Given the description of an element on the screen output the (x, y) to click on. 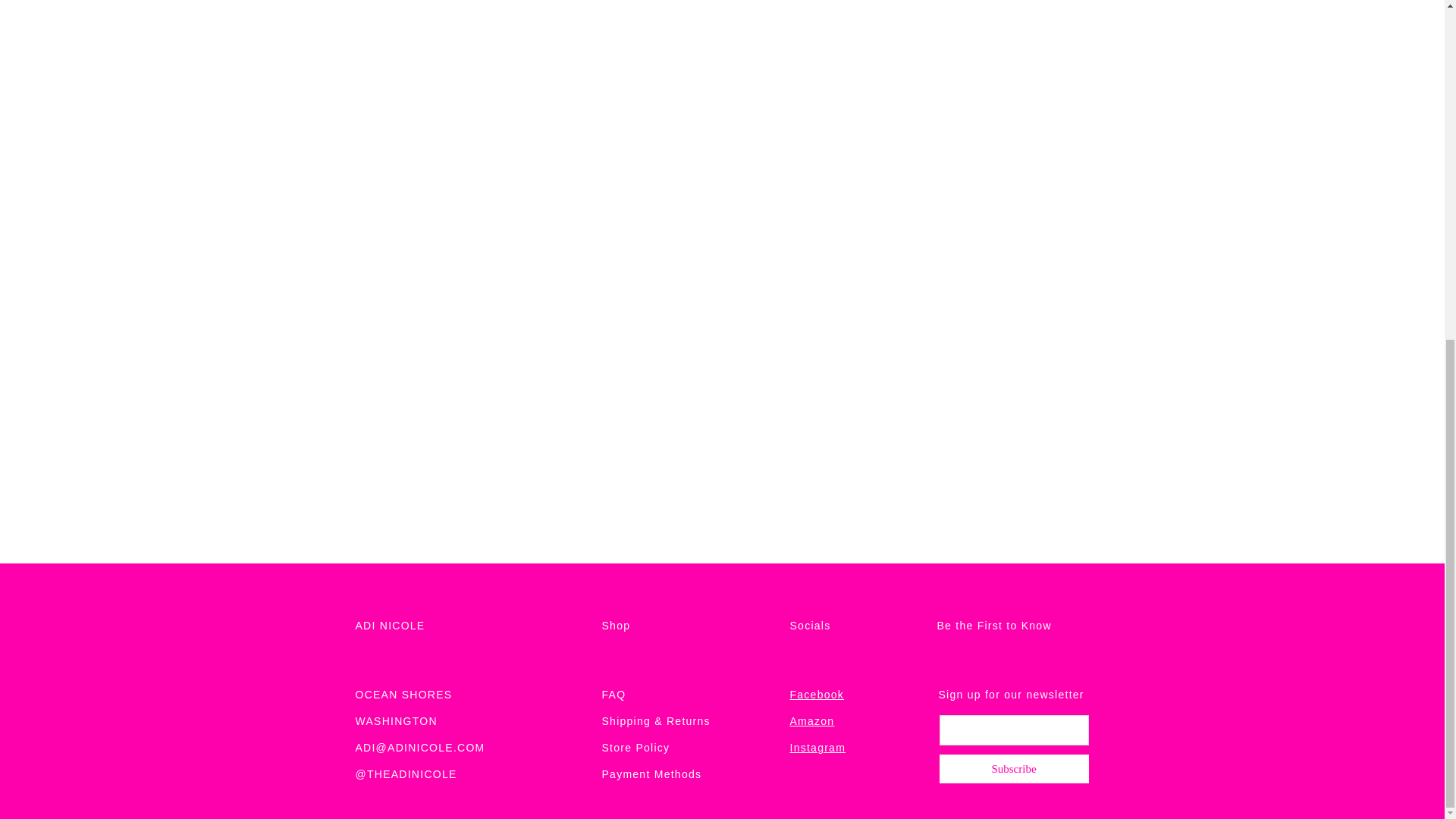
Store Policy (635, 747)
Facebook (817, 694)
Instagram (817, 747)
Subscribe (1013, 768)
FAQ (614, 694)
Payment Methods (651, 774)
Amazon (812, 720)
